Given the description of an element on the screen output the (x, y) to click on. 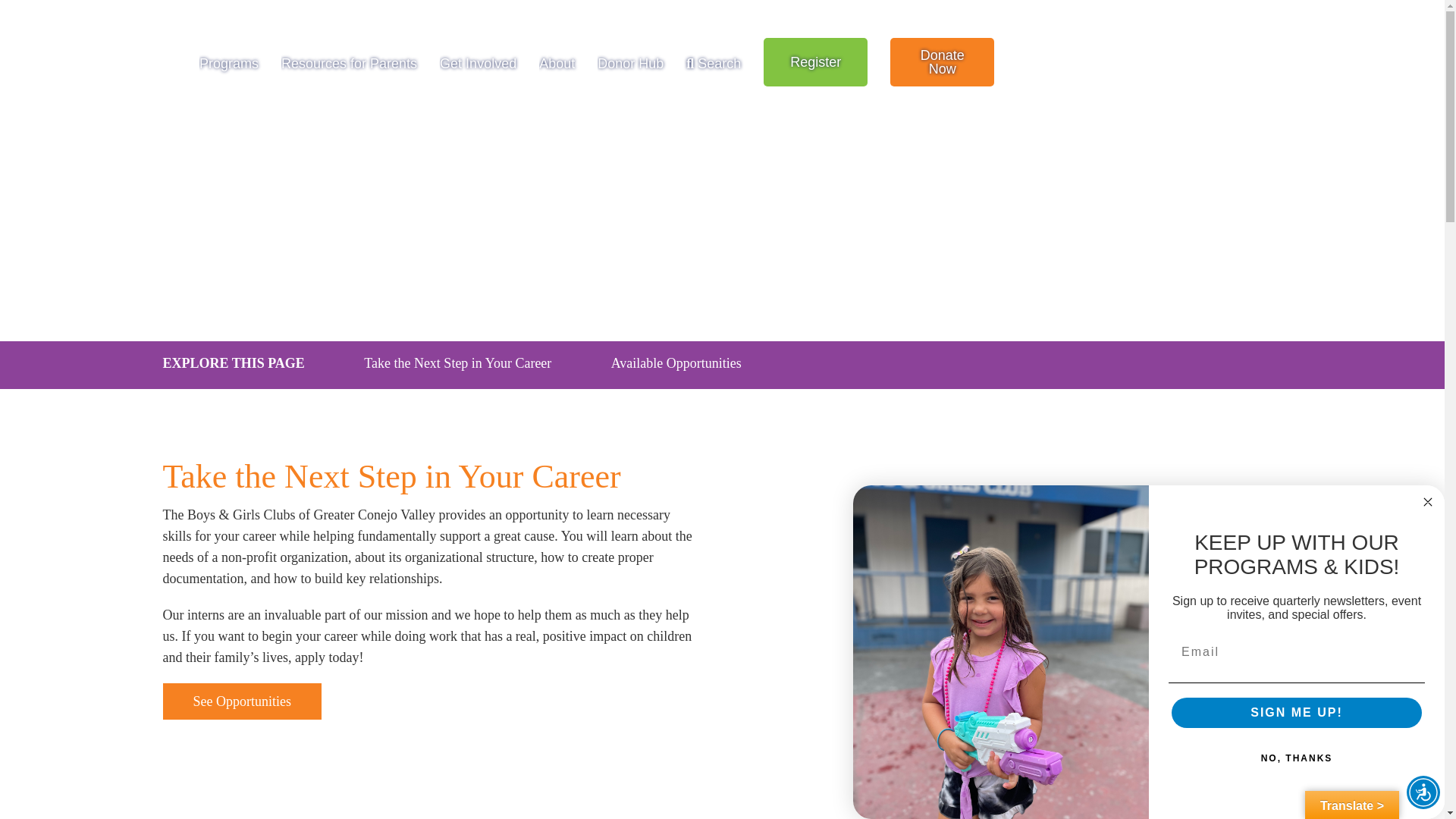
Resources for Parents (348, 61)
Accessibility Menu (1422, 792)
Programs (229, 61)
Donate Now (941, 61)
Close dialog 1 (1427, 502)
Get Involved (477, 61)
Register (814, 61)
YouTube video player 1 (971, 585)
Search (713, 61)
Donor Hub (629, 61)
